Given the description of an element on the screen output the (x, y) to click on. 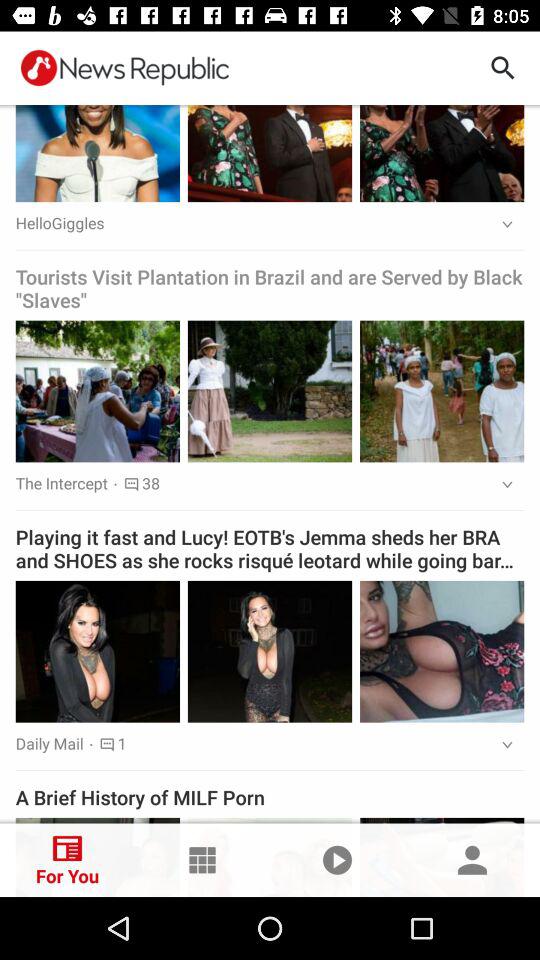
launch the icon above playing it fast icon (500, 485)
